Given the description of an element on the screen output the (x, y) to click on. 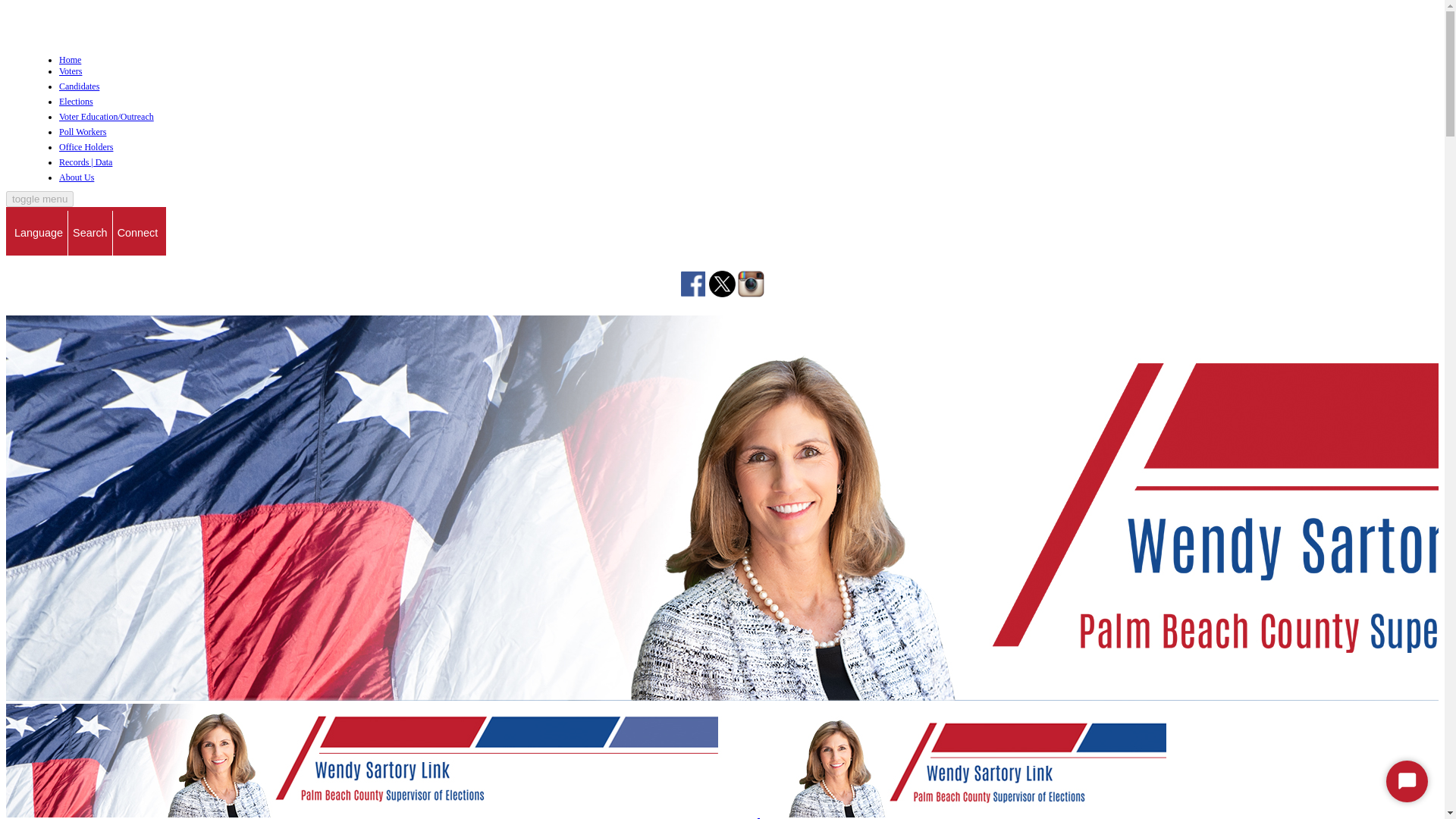
Candidates (748, 88)
Home (70, 59)
